Given the description of an element on the screen output the (x, y) to click on. 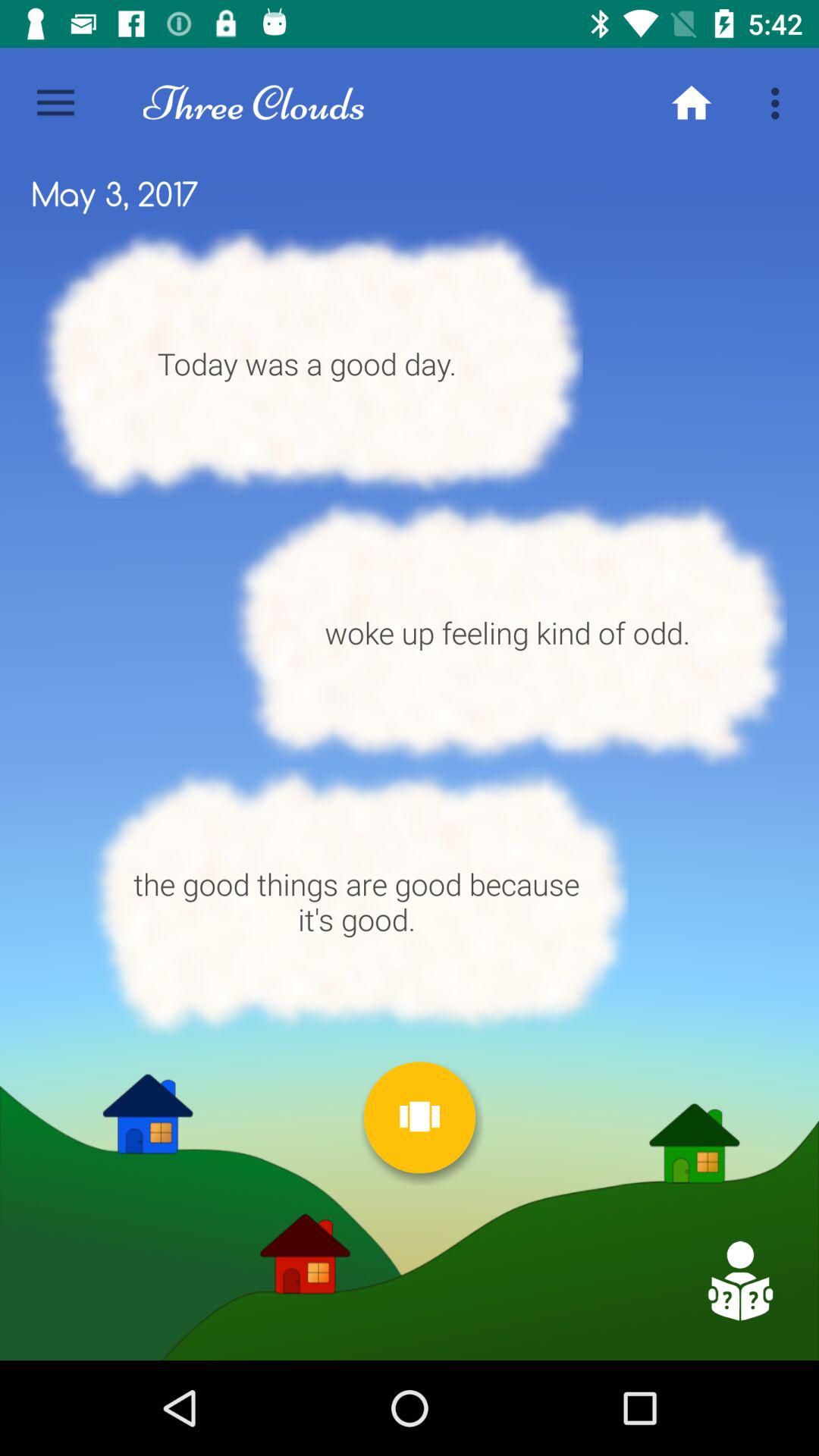
explore the content (739, 1280)
